Given the description of an element on the screen output the (x, y) to click on. 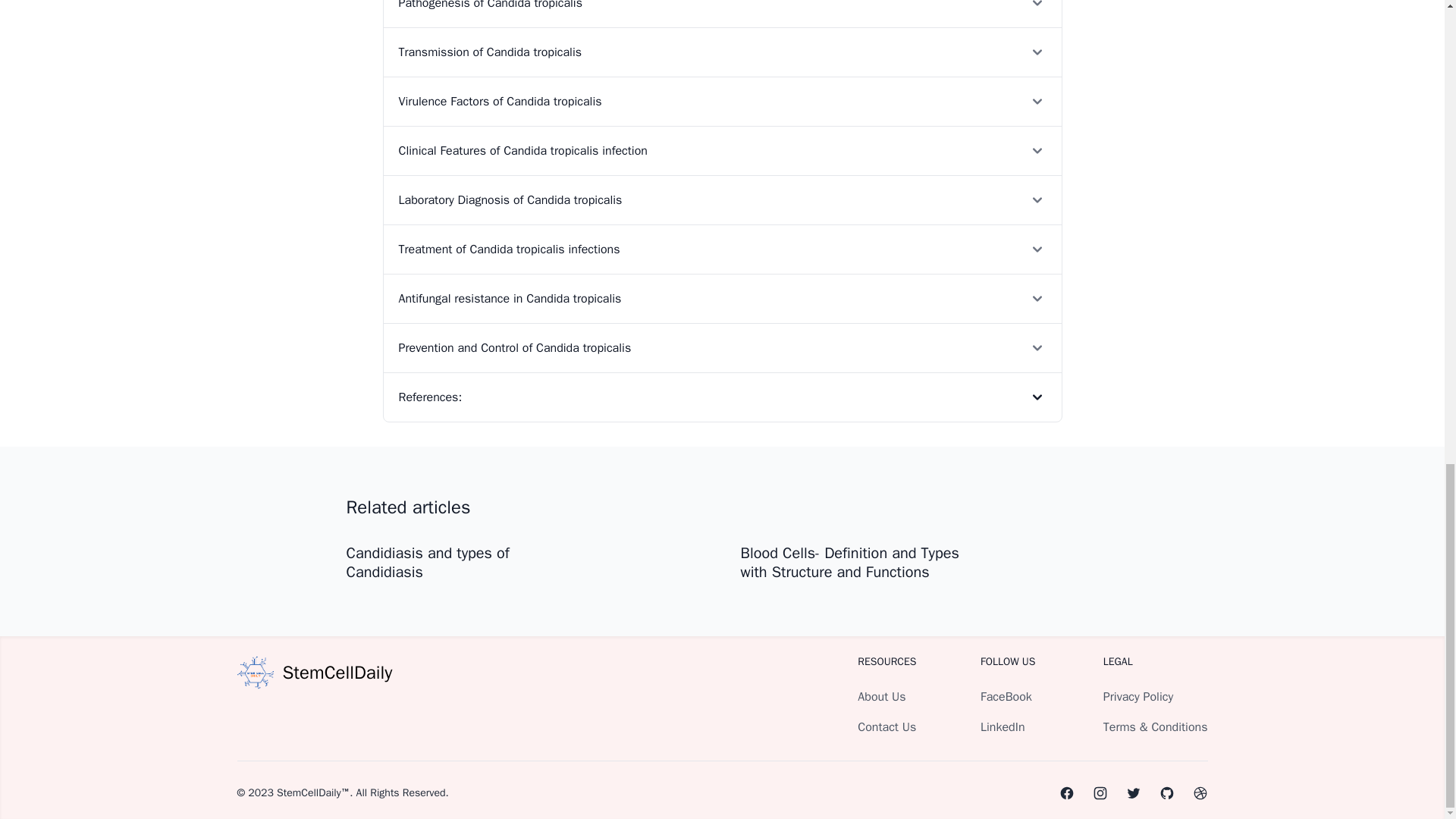
Antifungal resistance in Candida tropicalis (722, 297)
Contact Us (886, 726)
Prevention and Control of Candida tropicalis (722, 347)
Pathogenesis of Candida tropicalis (722, 13)
FaceBook (1005, 696)
LinkedIn (1002, 726)
Virulence Factors of Candida tropicalis (722, 101)
Transmission of Candida tropicalis (722, 51)
Clinical Features of Candida tropicalis infection (722, 150)
About Us (881, 696)
Treatment of Candida tropicalis infections (722, 248)
Laboratory Diagnosis of Candida tropicalis (722, 199)
Candidiasis and types of Candidiasis (427, 562)
StemCellDaily (313, 672)
